Given the description of an element on the screen output the (x, y) to click on. 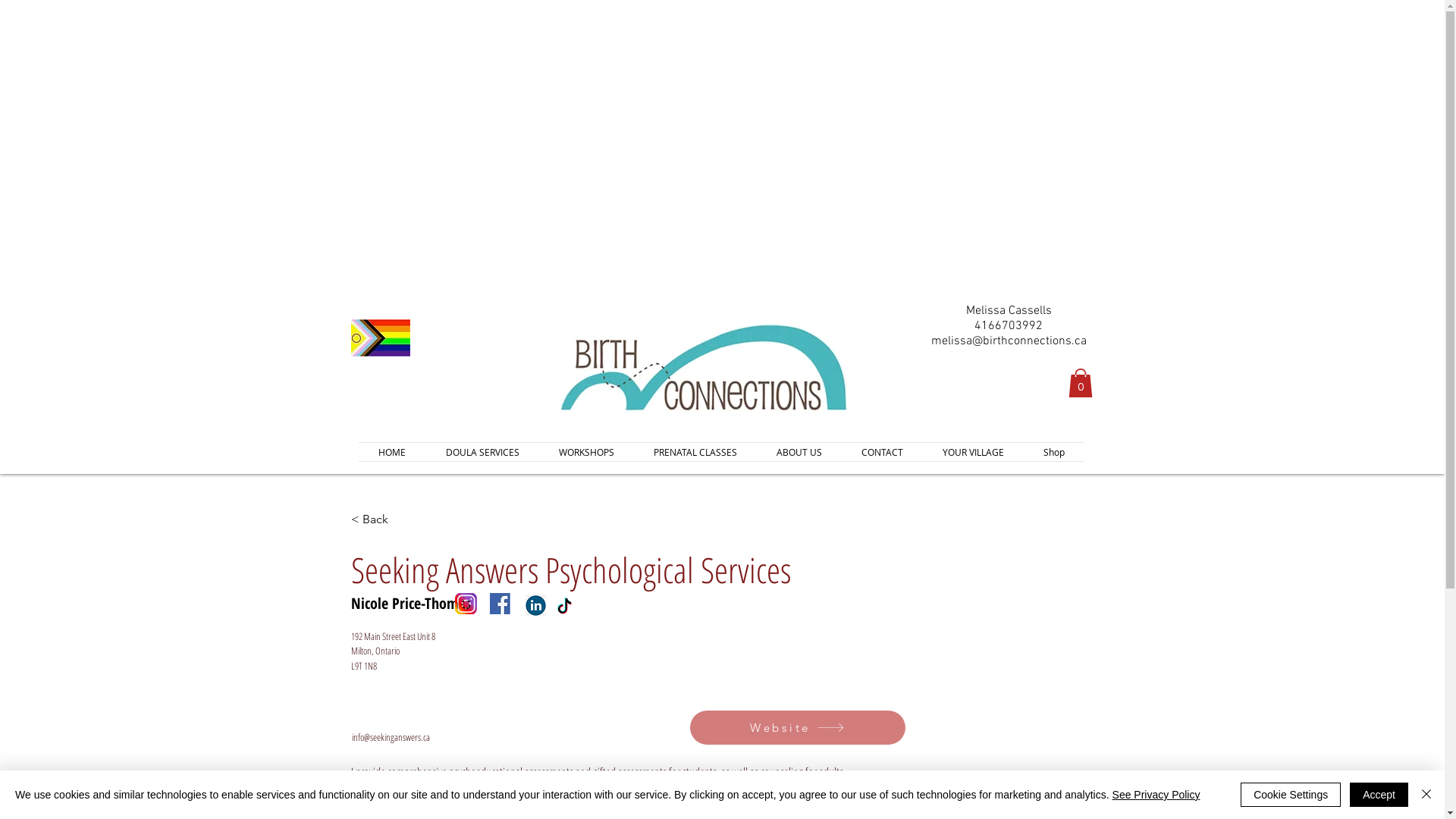
melissa@birthconnections.ca Element type: text (1008, 340)
ABOUT US Element type: text (798, 451)
CONTACT Element type: text (881, 451)
YOUR VILLAGE Element type: text (972, 451)
PRENATAL CLASSES Element type: text (694, 451)
< Back Element type: text (399, 519)
WORKSHOPS Element type: text (585, 451)
0 Element type: text (1079, 382)
HOME Element type: text (391, 451)
Accept Element type: text (1378, 794)
Cookie Settings Element type: text (1290, 794)
Shop Element type: text (1053, 451)
See Privacy Policy Element type: text (1156, 794)
DOULA SERVICES Element type: text (482, 451)
Website Element type: text (797, 727)
info@seekinganswers.ca Element type: text (390, 736)
